Given the description of an element on the screen output the (x, y) to click on. 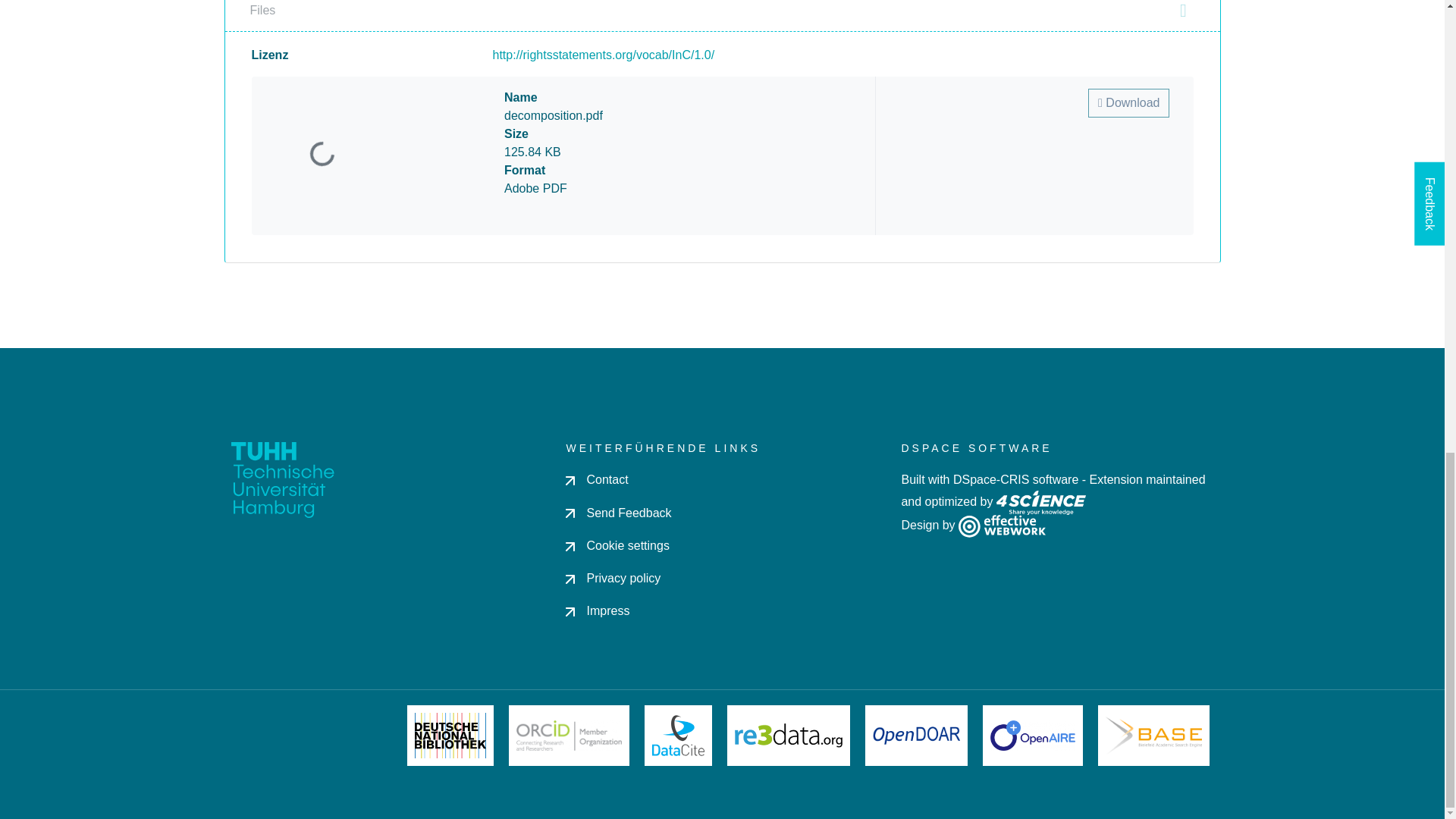
effective webwork GmbH Hamburg (1001, 524)
Close section (1183, 10)
